Given the description of an element on the screen output the (x, y) to click on. 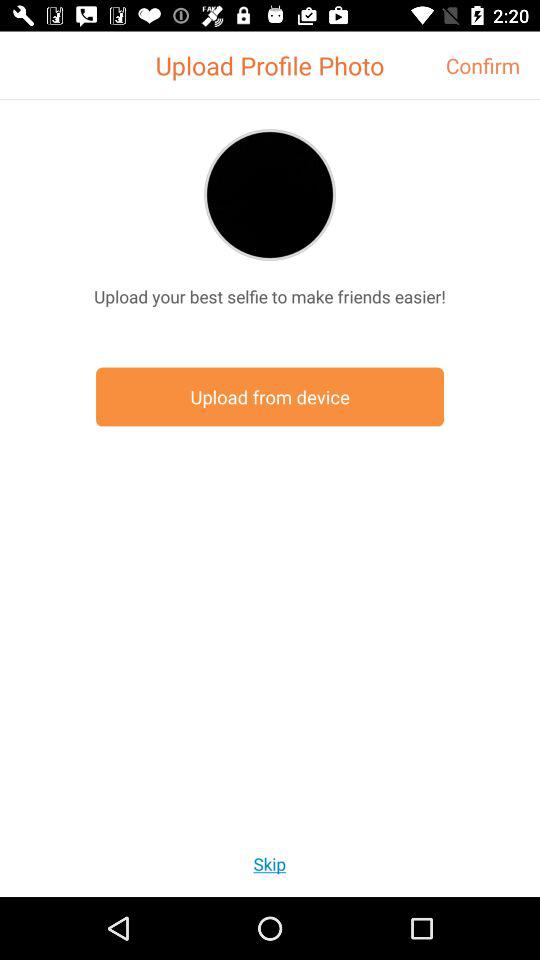
press the app above the skip (270, 396)
